Given the description of an element on the screen output the (x, y) to click on. 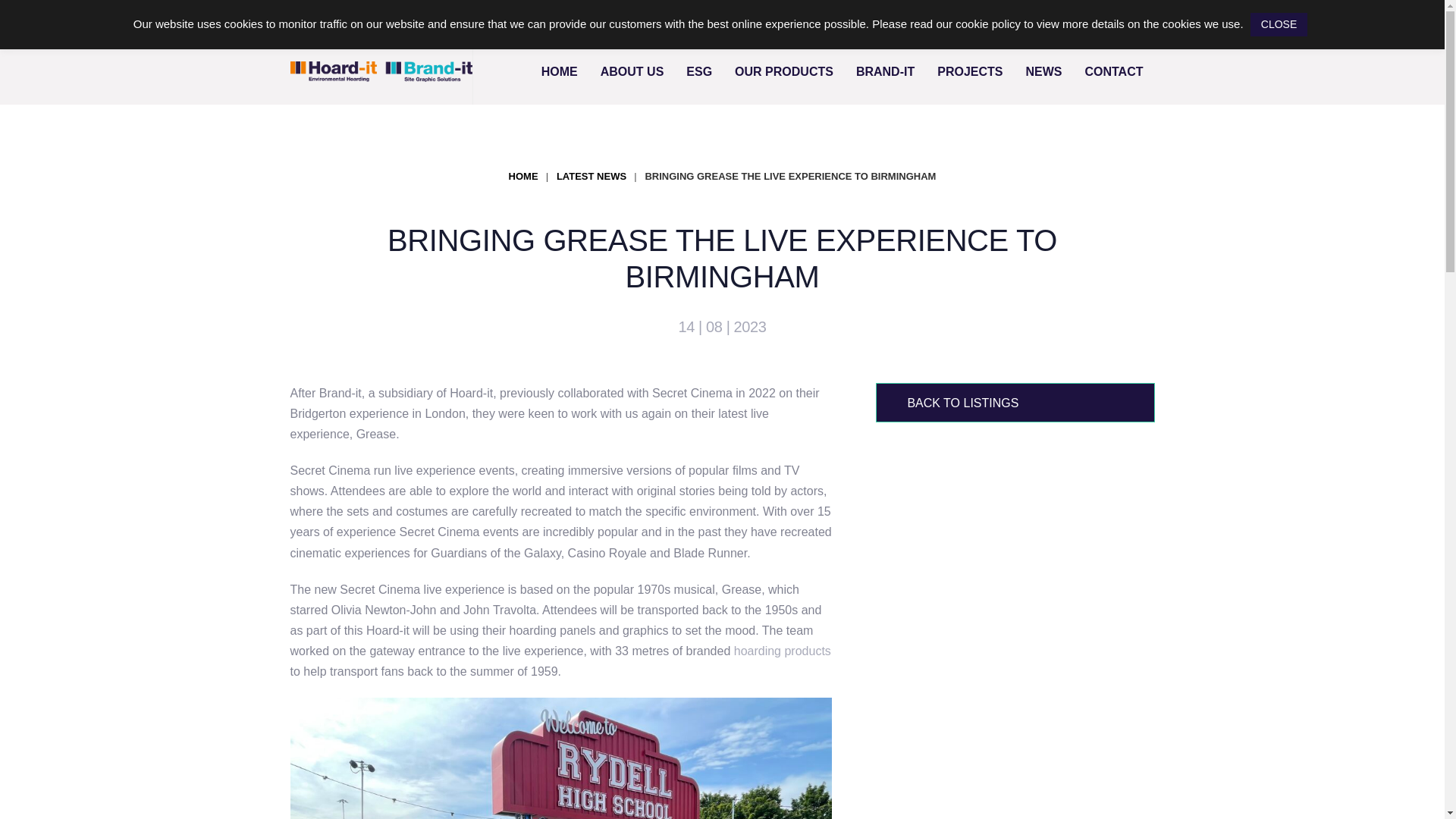
ESG (699, 71)
Bringing Grease The Live Experience to Birmingham hoard-it (560, 758)
tel: 01226 752143 (1002, 19)
HOME (559, 71)
Careers (892, 19)
 01226 752143 (1002, 19)
ABOUT US (632, 71)
OUR PRODUCTS (783, 71)
